Given the description of an element on the screen output the (x, y) to click on. 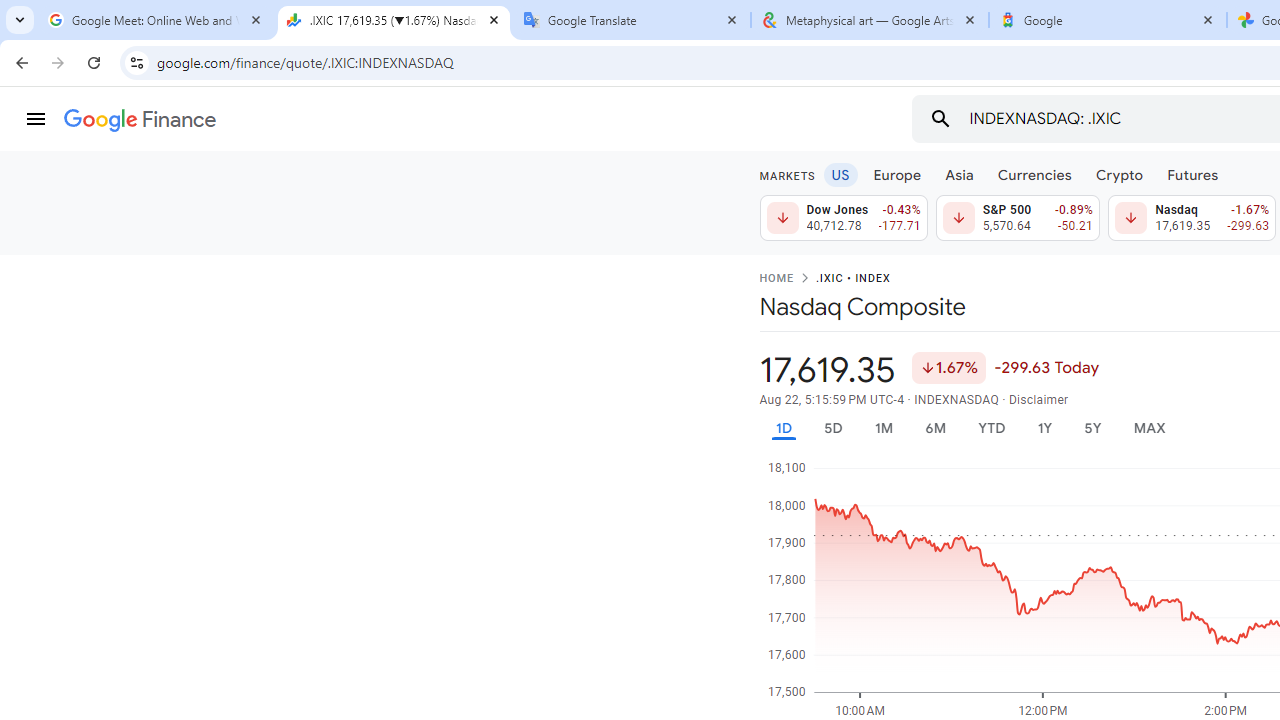
Dow Jones 40,712.78 Down by 0.43% -177.71 (843, 218)
Disclaimer (1038, 399)
Currencies (1034, 174)
US (840, 174)
Google (1108, 20)
Crypto (1119, 174)
Nasdaq 17,619.35 Down by 1.67% -299.63 (1192, 218)
